Given the description of an element on the screen output the (x, y) to click on. 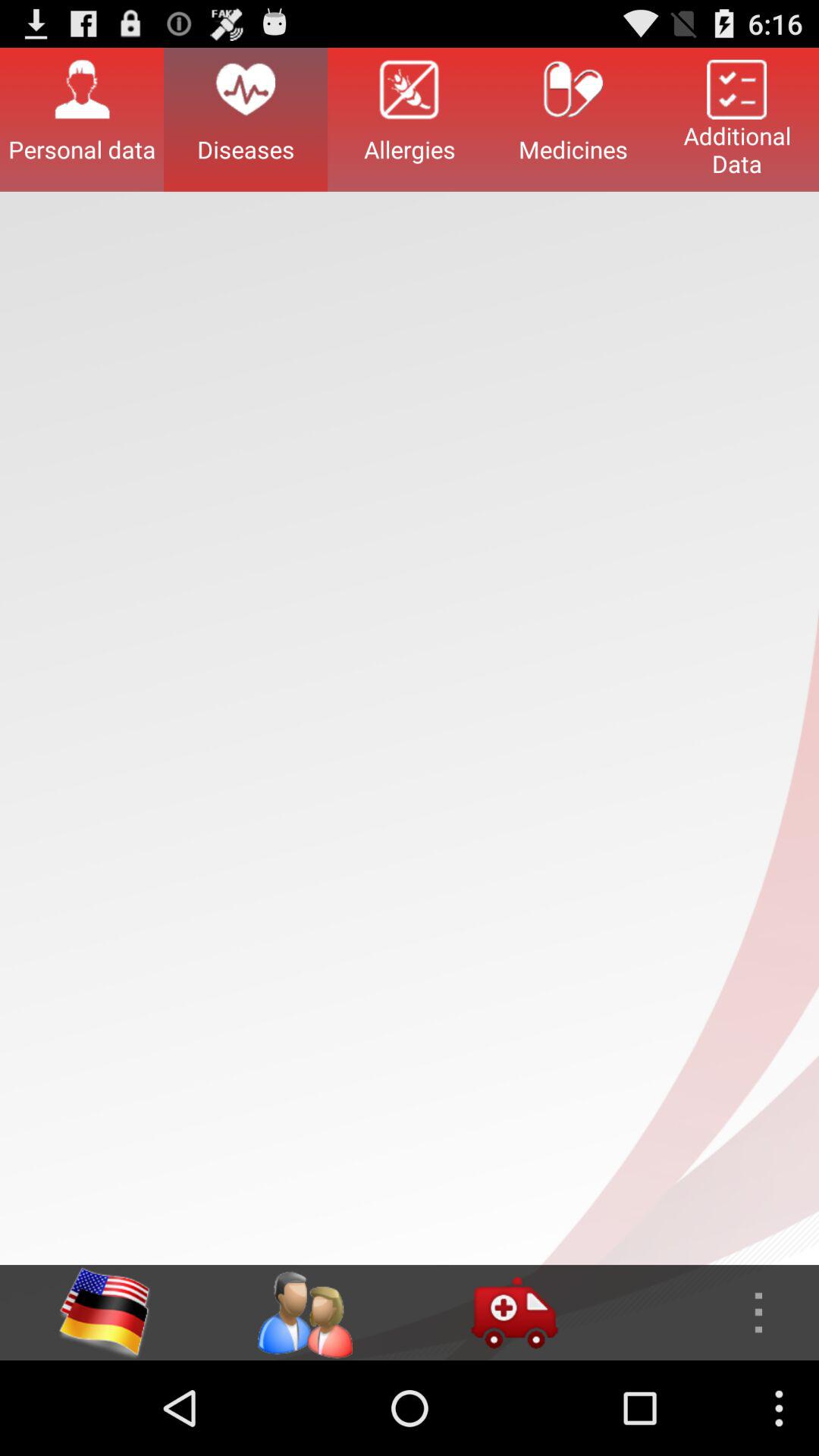
select the button to the left of the additional data button (573, 119)
